Given the description of an element on the screen output the (x, y) to click on. 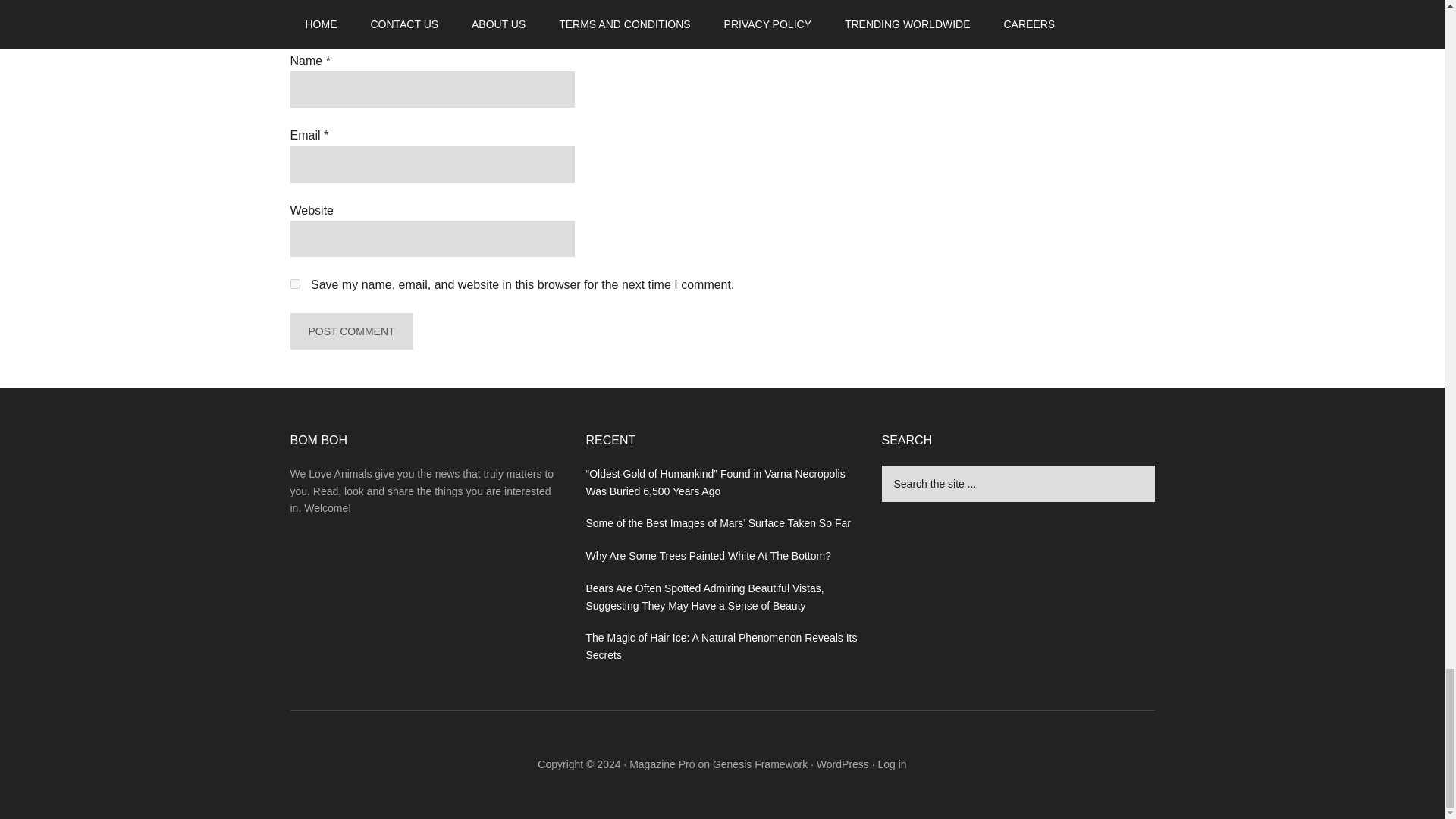
Post Comment (350, 330)
Post Comment (350, 330)
yes (294, 284)
